Given the description of an element on the screen output the (x, y) to click on. 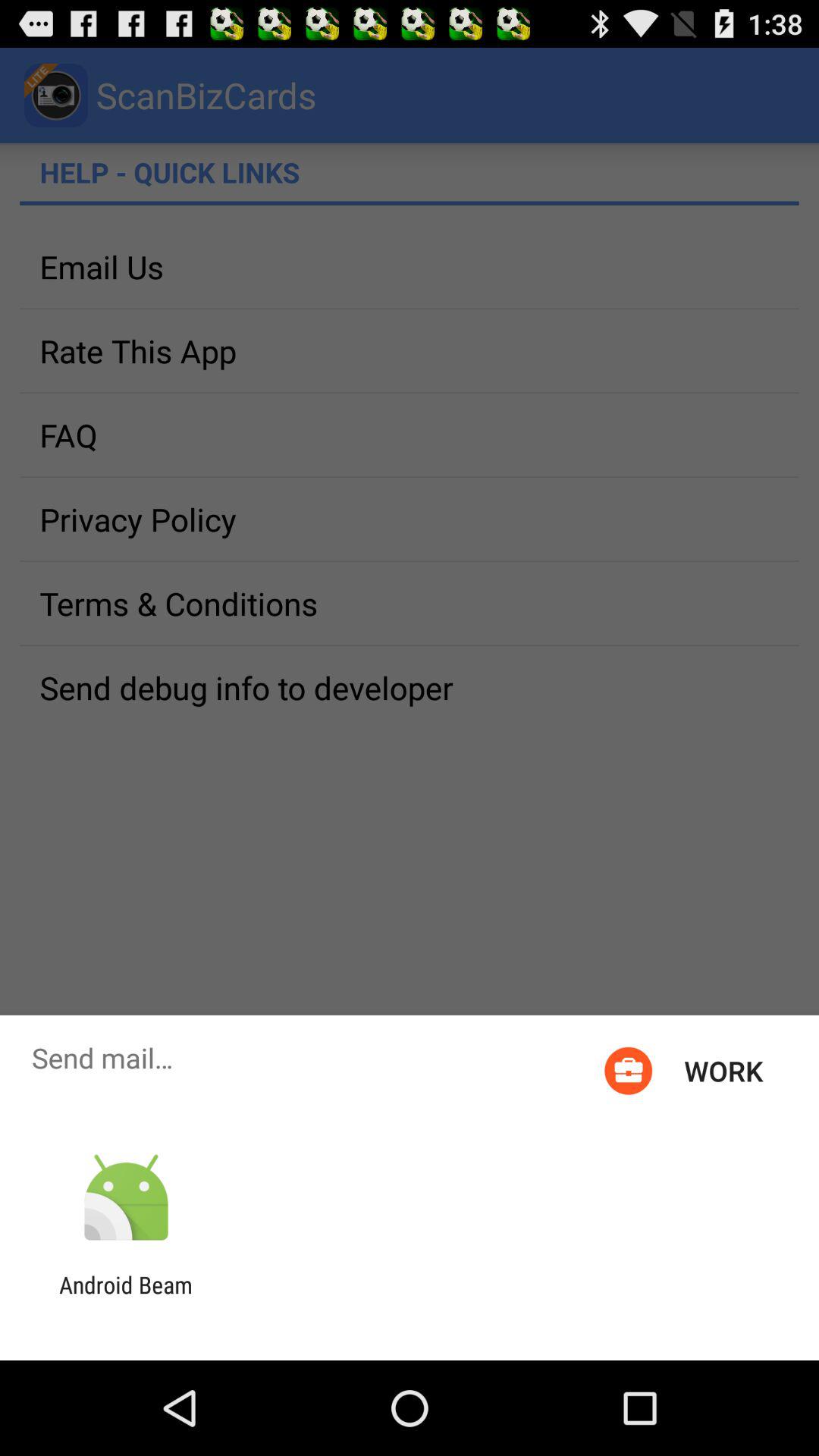
tap android beam app (125, 1298)
